Given the description of an element on the screen output the (x, y) to click on. 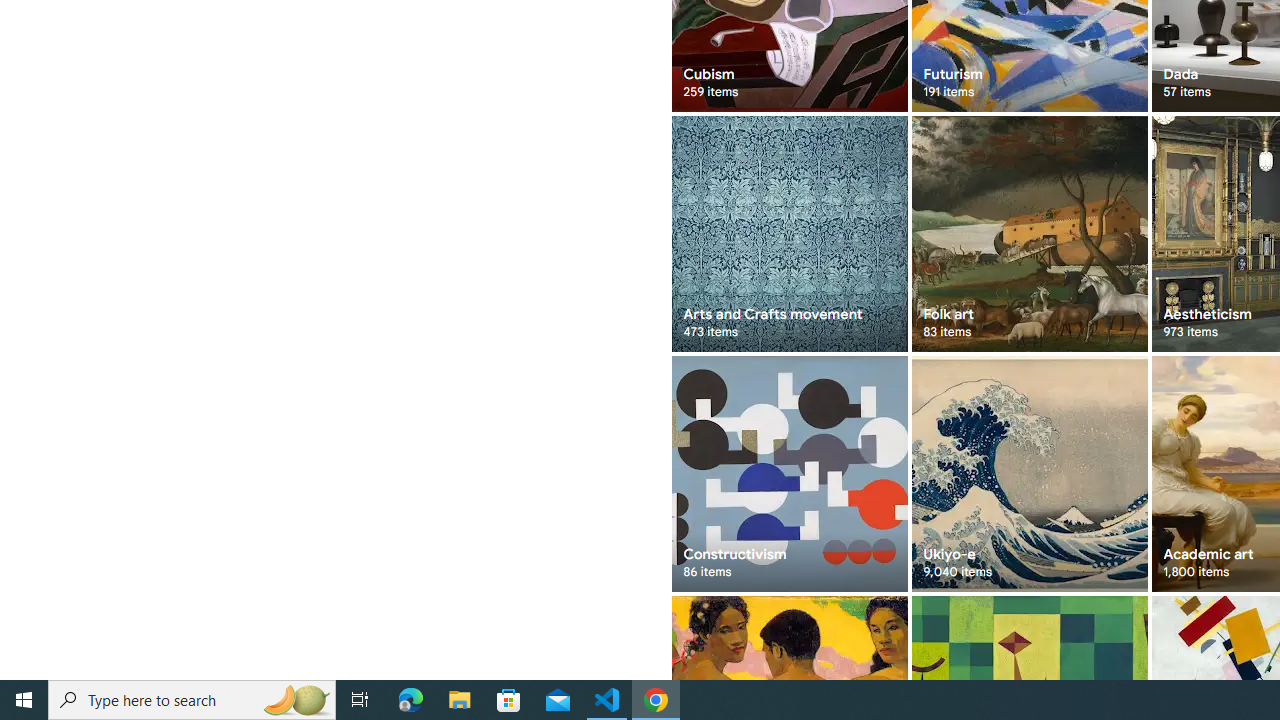
Arts and Crafts movement 473 items (788, 233)
Folk art 83 items (1029, 233)
Ukiyo-e 9,040 items (1029, 473)
Constructivism 86 items (788, 473)
